Given the description of an element on the screen output the (x, y) to click on. 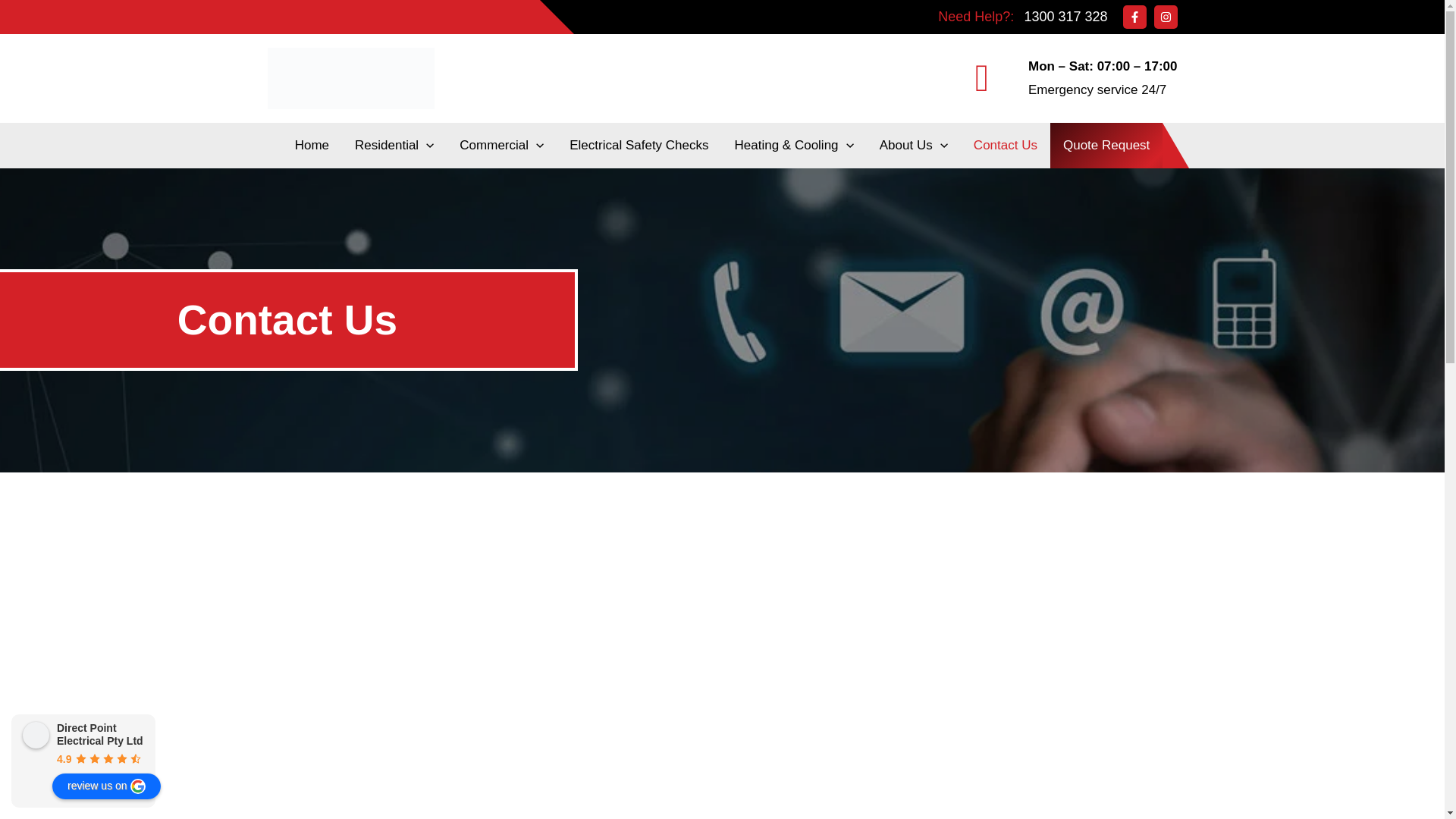
review us on Element type: text (106, 786)
1300 317 328 Element type: text (1065, 16)
Home Element type: text (312, 145)
Commercial Element type: text (501, 145)
Residential Element type: text (394, 145)
Direct Point Electrical Pty Ltd Element type: text (99, 733)
Direct Point Electrical Pty Ltd Element type: hover (35, 734)
Contact Us Element type: text (1005, 145)
Quote Request Element type: text (1106, 145)
About Us Element type: text (913, 145)
Electrical Safety Checks Element type: text (638, 145)
Heating & Cooling Element type: text (793, 145)
